Given the description of an element on the screen output the (x, y) to click on. 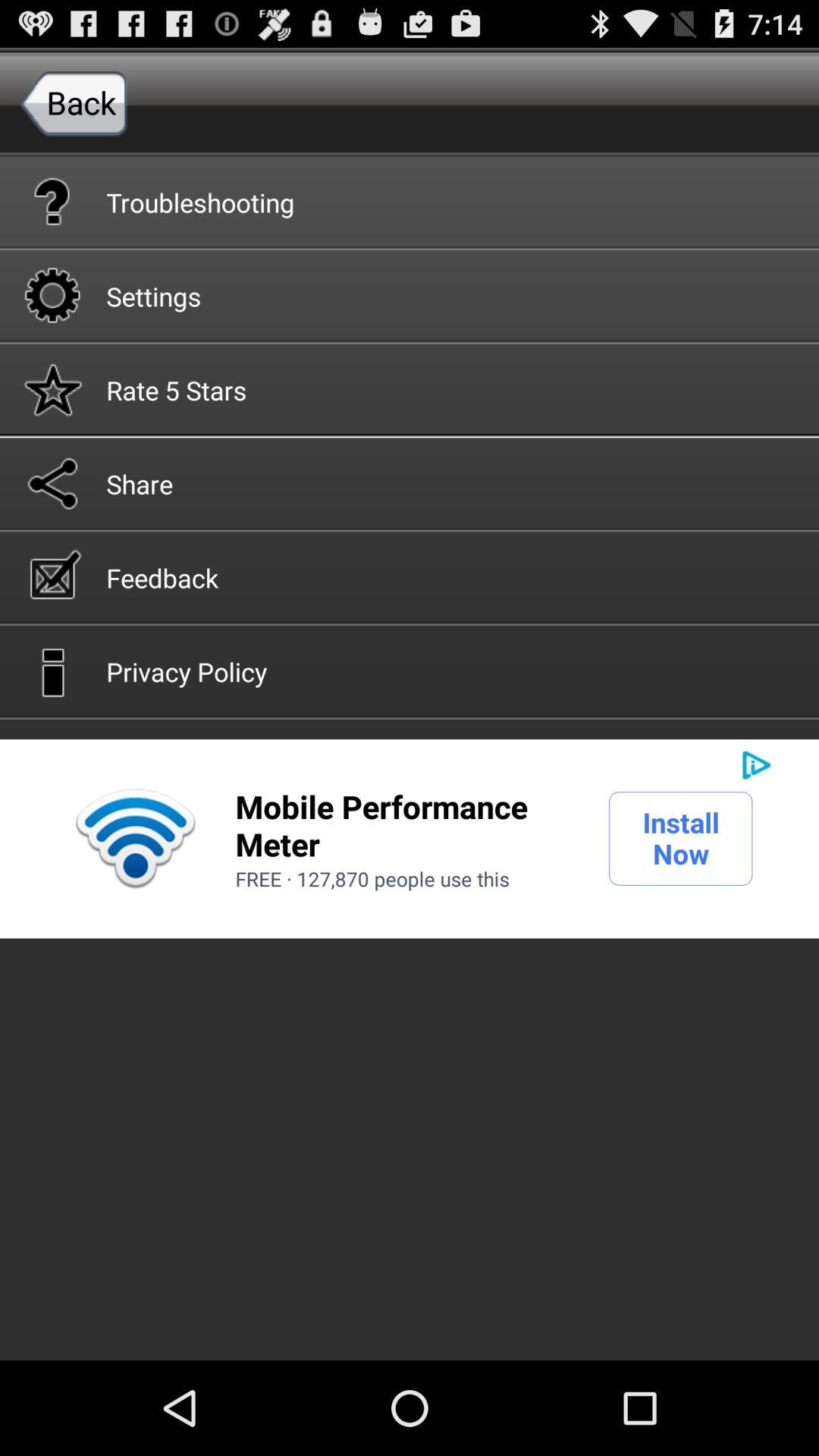
click the icon on the left (135, 838)
